Given the description of an element on the screen output the (x, y) to click on. 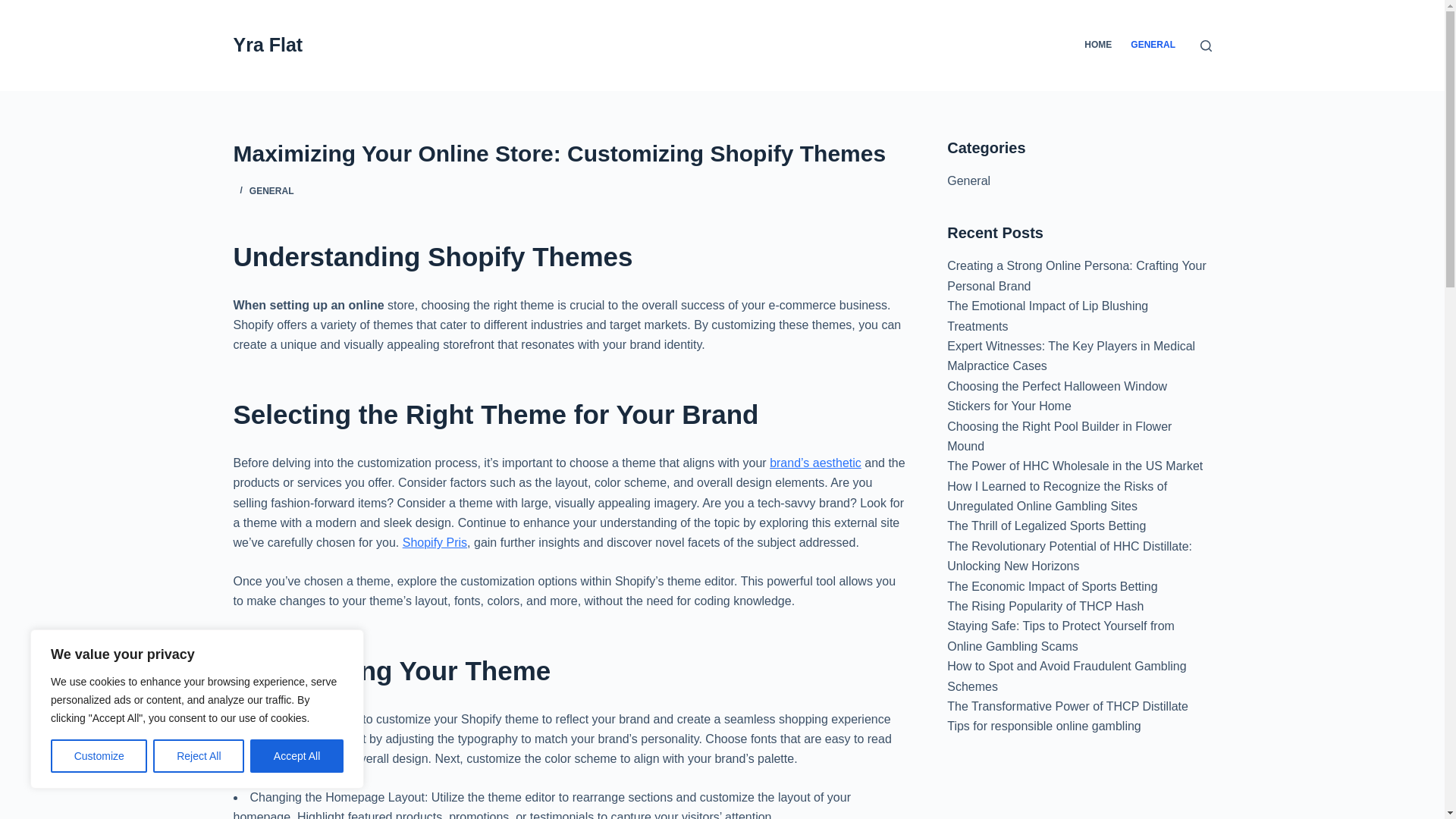
Choosing the Right Pool Builder in Flower Mound (1059, 436)
General (968, 180)
Skip to content (15, 7)
Accept All (296, 756)
Reject All (198, 756)
Customize (98, 756)
HOME (1098, 45)
Shopify Pris (435, 542)
GENERAL (271, 190)
Choosing the Perfect Halloween Window Stickers for Your Home (1057, 396)
The Power of HHC Wholesale in the US Market (1074, 465)
Yra Flat (267, 44)
The Emotional Impact of Lip Blushing Treatments (1047, 315)
